Given the description of an element on the screen output the (x, y) to click on. 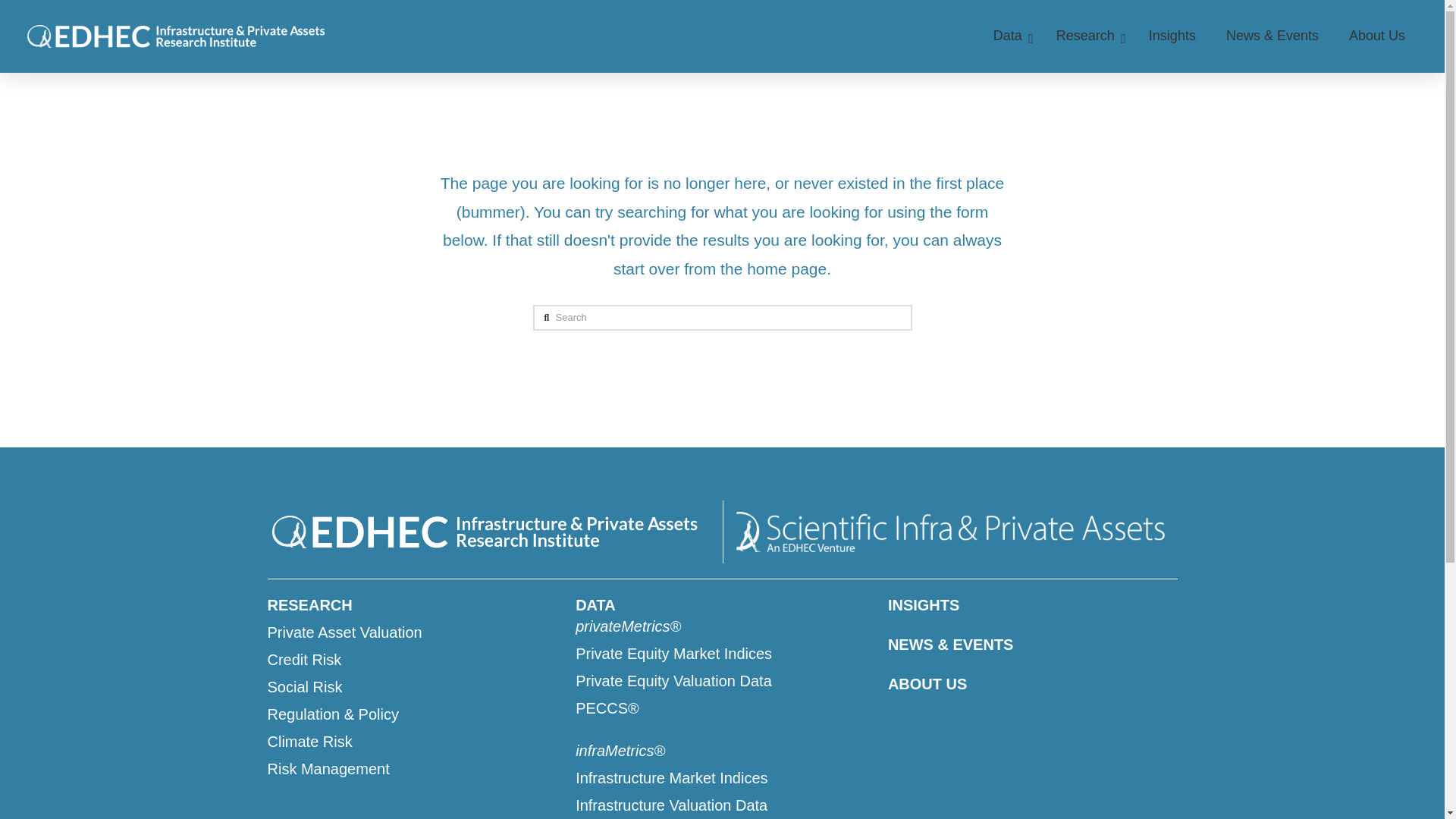
Private Asset Valuation (413, 631)
Credit Risk (413, 659)
Private Equity Valuation Data (723, 680)
Private Equity Market Indices (723, 653)
Insights (1172, 35)
INSIGHTS (1032, 604)
Climate Risk (413, 741)
Infrastructure Valuation Data (723, 804)
Data (1009, 35)
Risk Management (413, 768)
RESEARCH (413, 604)
Social Risk (413, 686)
Infrastructure Market Indices (723, 777)
About Us (1377, 35)
ABOUT US (1032, 683)
